Given the description of an element on the screen output the (x, y) to click on. 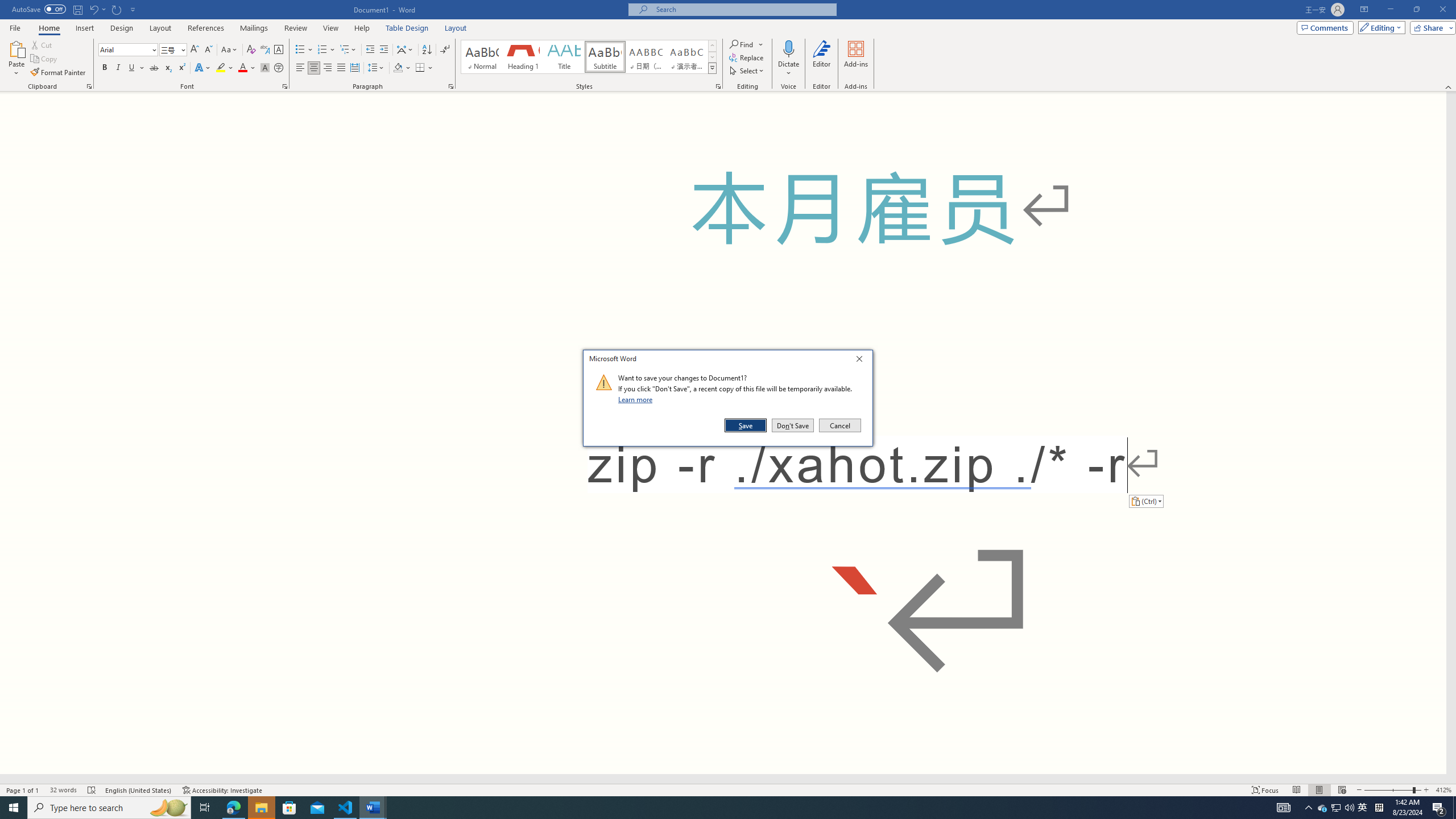
Center (1335, 807)
Accessibility Checker Accessibility: Investigate (313, 67)
Insert (222, 790)
Bullets (83, 28)
Superscript (300, 49)
Strikethrough (180, 67)
Shading RGB(0, 0, 0) (154, 67)
AutomationID: QuickStylesGallery (397, 67)
Layout (588, 56)
Class: NetUIScrollBar (455, 28)
Mailings (722, 778)
Font Size (253, 28)
